Given the description of an element on the screen output the (x, y) to click on. 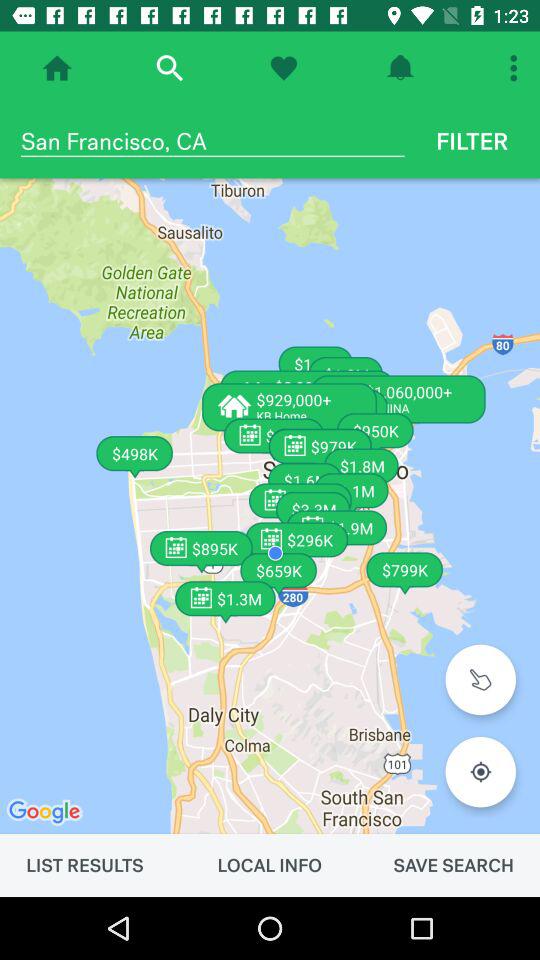
click icon next to the local info item (453, 865)
